Given the description of an element on the screen output the (x, y) to click on. 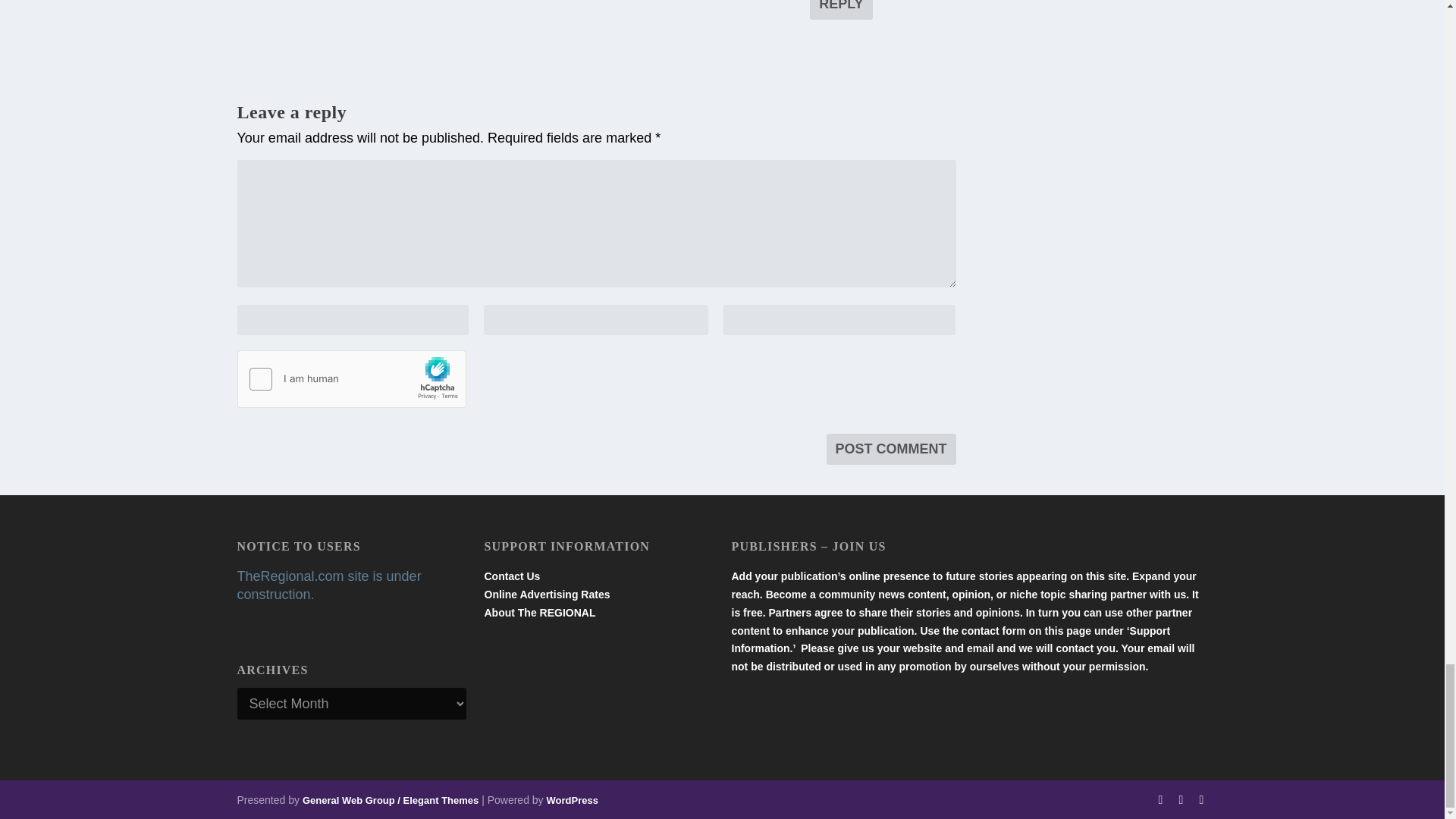
Widget containing checkbox for hCaptcha security challenge (350, 379)
Post Comment (891, 449)
Premium WordPress Themes (390, 799)
